Given the description of an element on the screen output the (x, y) to click on. 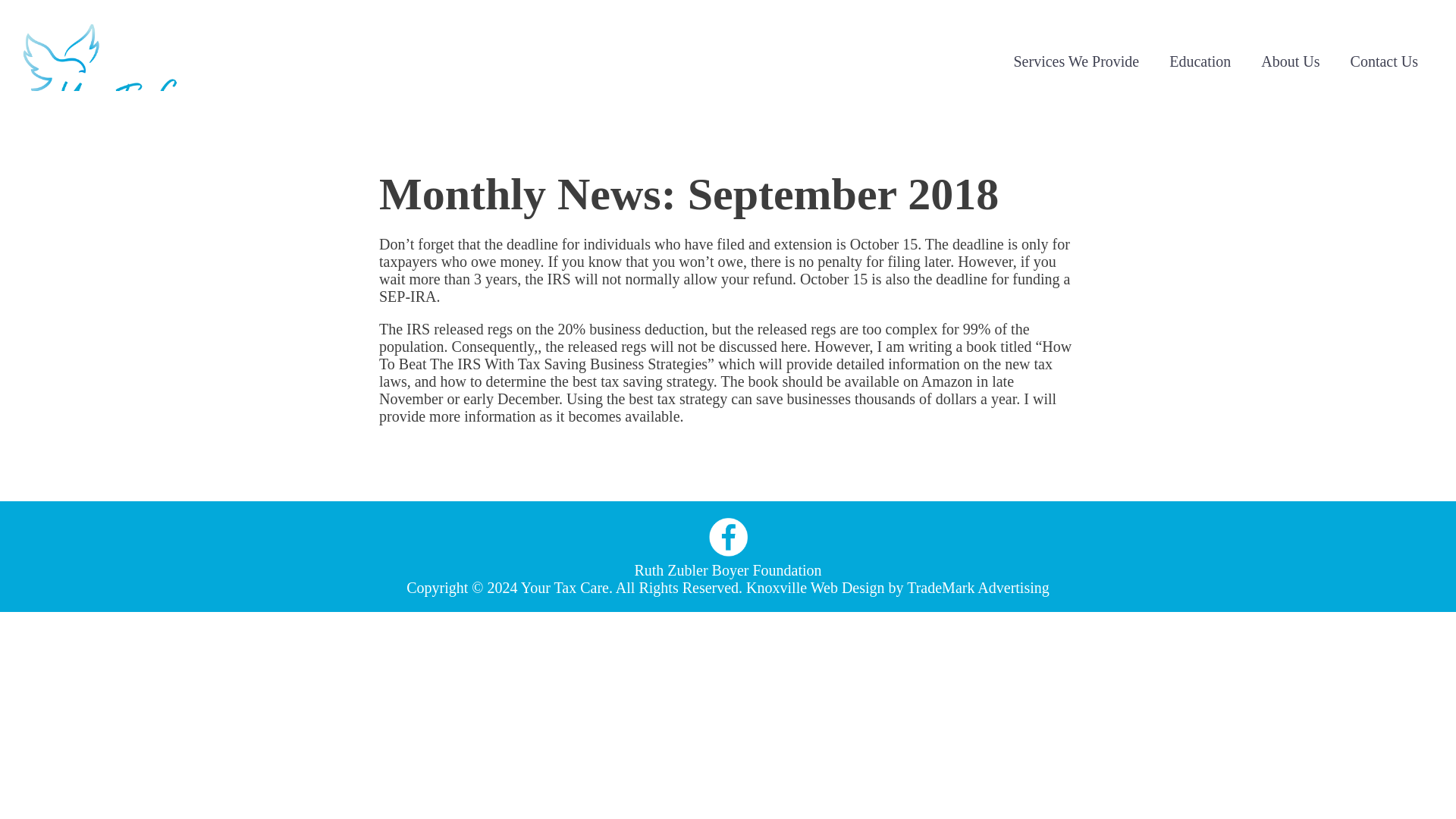
Education (1200, 61)
Services We Provide (1075, 61)
Contact Us (1383, 61)
About Us (1290, 61)
Ruth Zubler Boyer Foundation (727, 569)
Knoxville Web Design by TradeMark Advertising (897, 587)
